Given the description of an element on the screen output the (x, y) to click on. 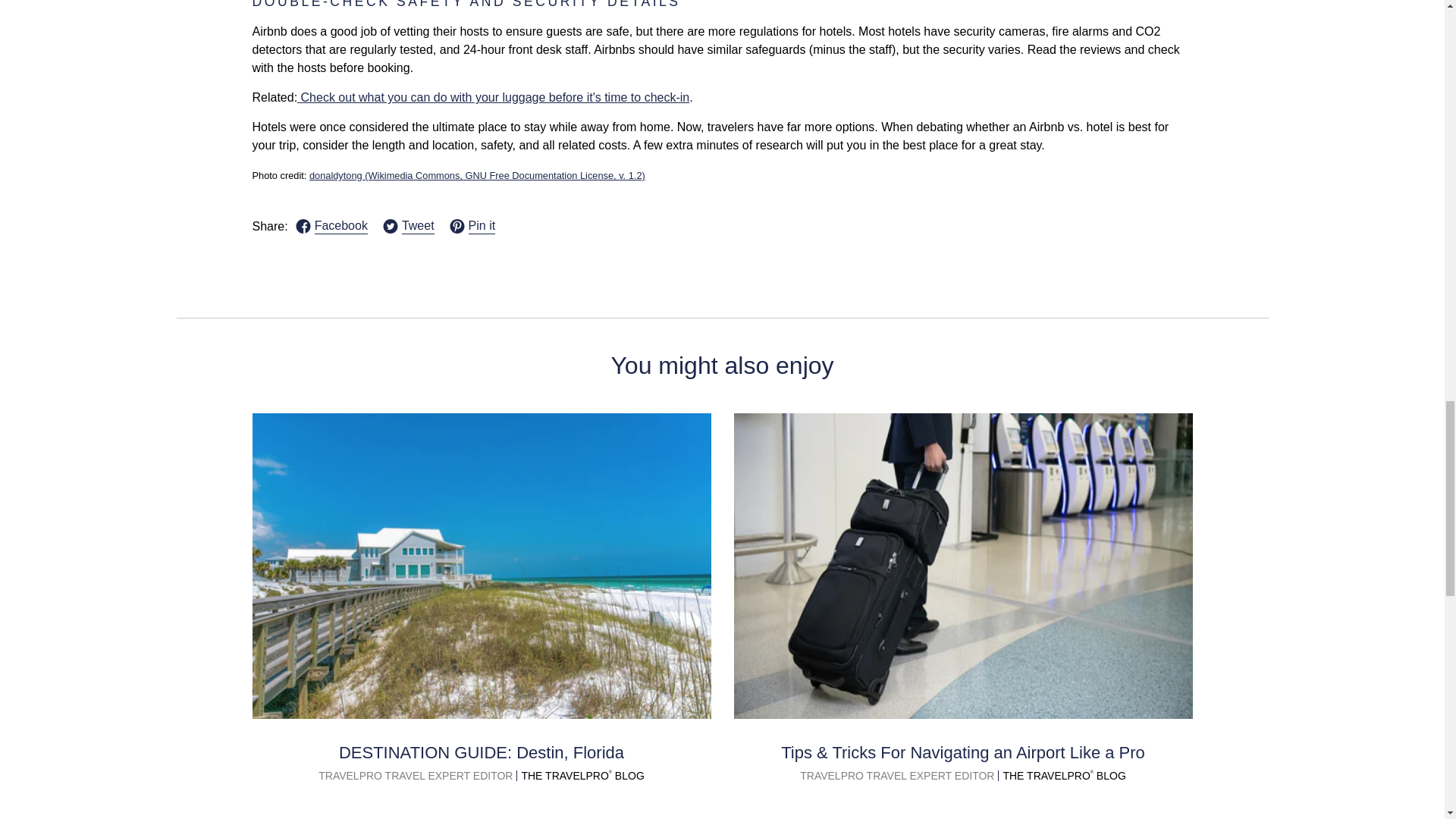
What to do with luggage before check-in (492, 97)
